Given the description of an element on the screen output the (x, y) to click on. 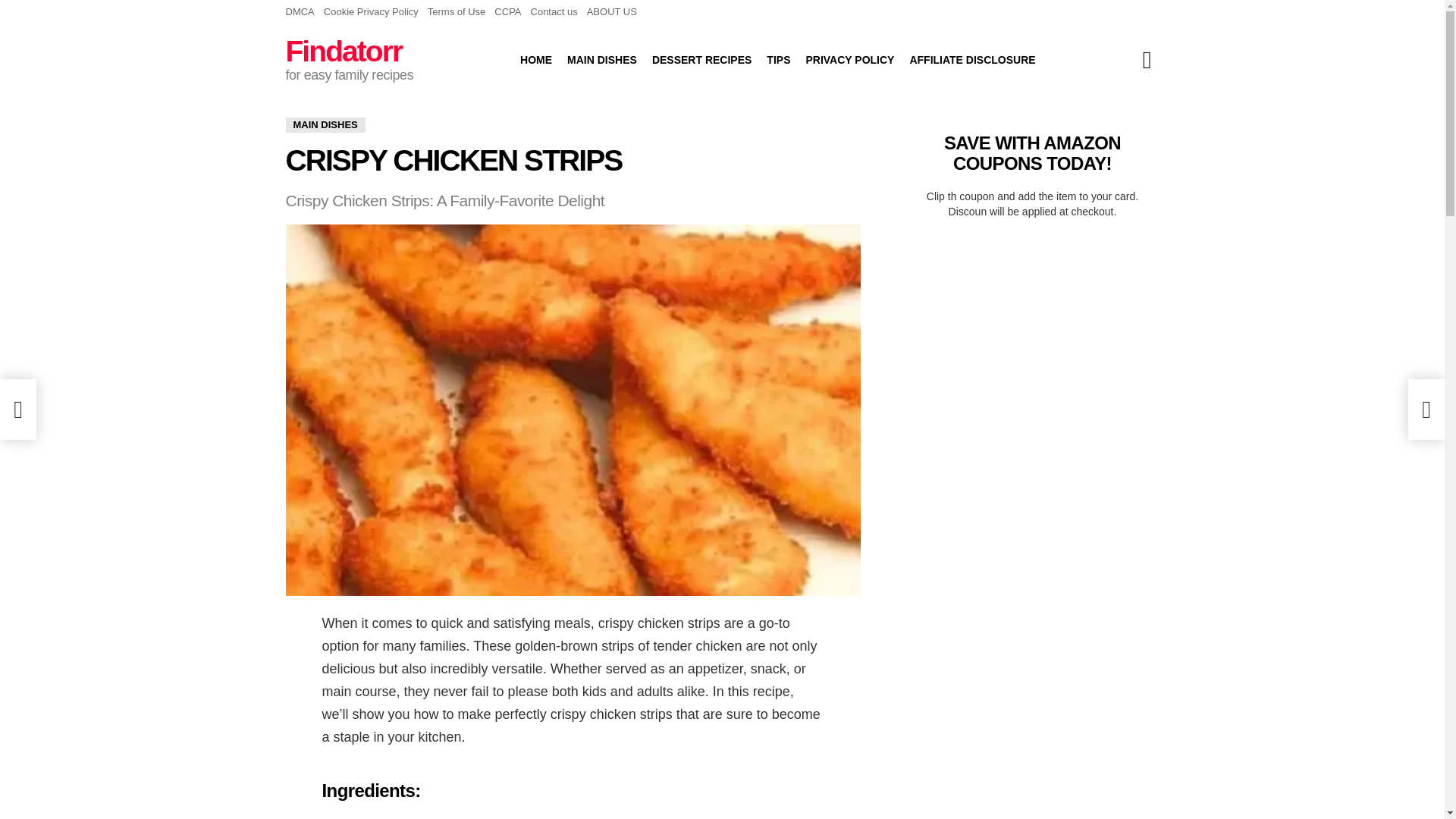
TIPS (777, 59)
MAIN DISHES (325, 124)
DESSERT RECIPES (701, 59)
MAIN DISHES (602, 59)
AFFILIATE DISCLOSURE (971, 59)
Findatorr (343, 51)
SAVE WITH AMAZON COUPONS TODAY! (1032, 152)
DMCA (299, 12)
PRIVACY POLICY (849, 59)
CCPA (508, 12)
